Given the description of an element on the screen output the (x, y) to click on. 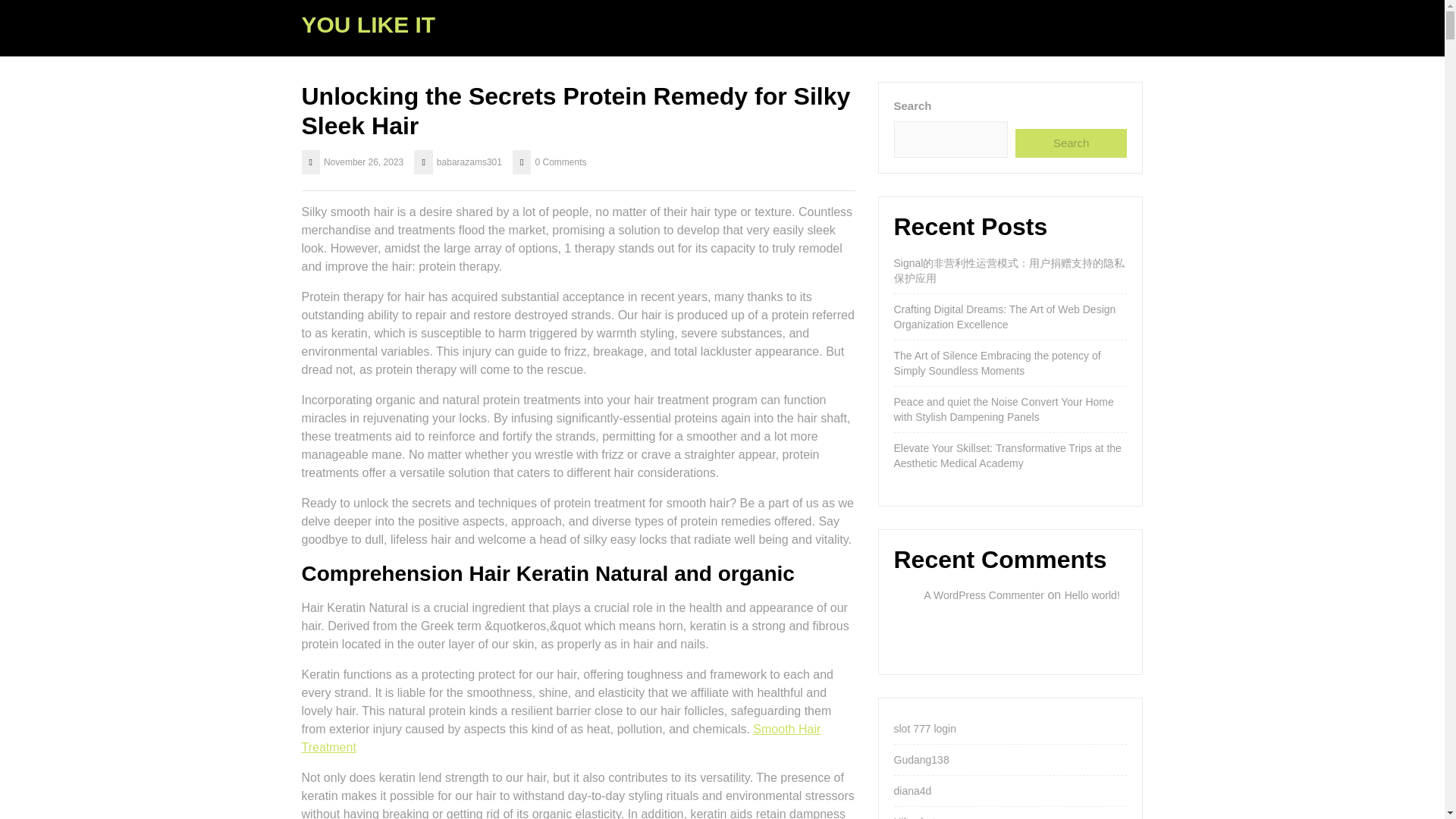
Hello world! (1091, 594)
Hiltonbet (913, 817)
slot 777 login (924, 728)
Smooth Hair Treatment (561, 737)
Gudang138 (921, 759)
A WordPress Commenter (983, 594)
Search (1070, 143)
YOU LIKE IT (368, 24)
diana4d (912, 790)
